Given the description of an element on the screen output the (x, y) to click on. 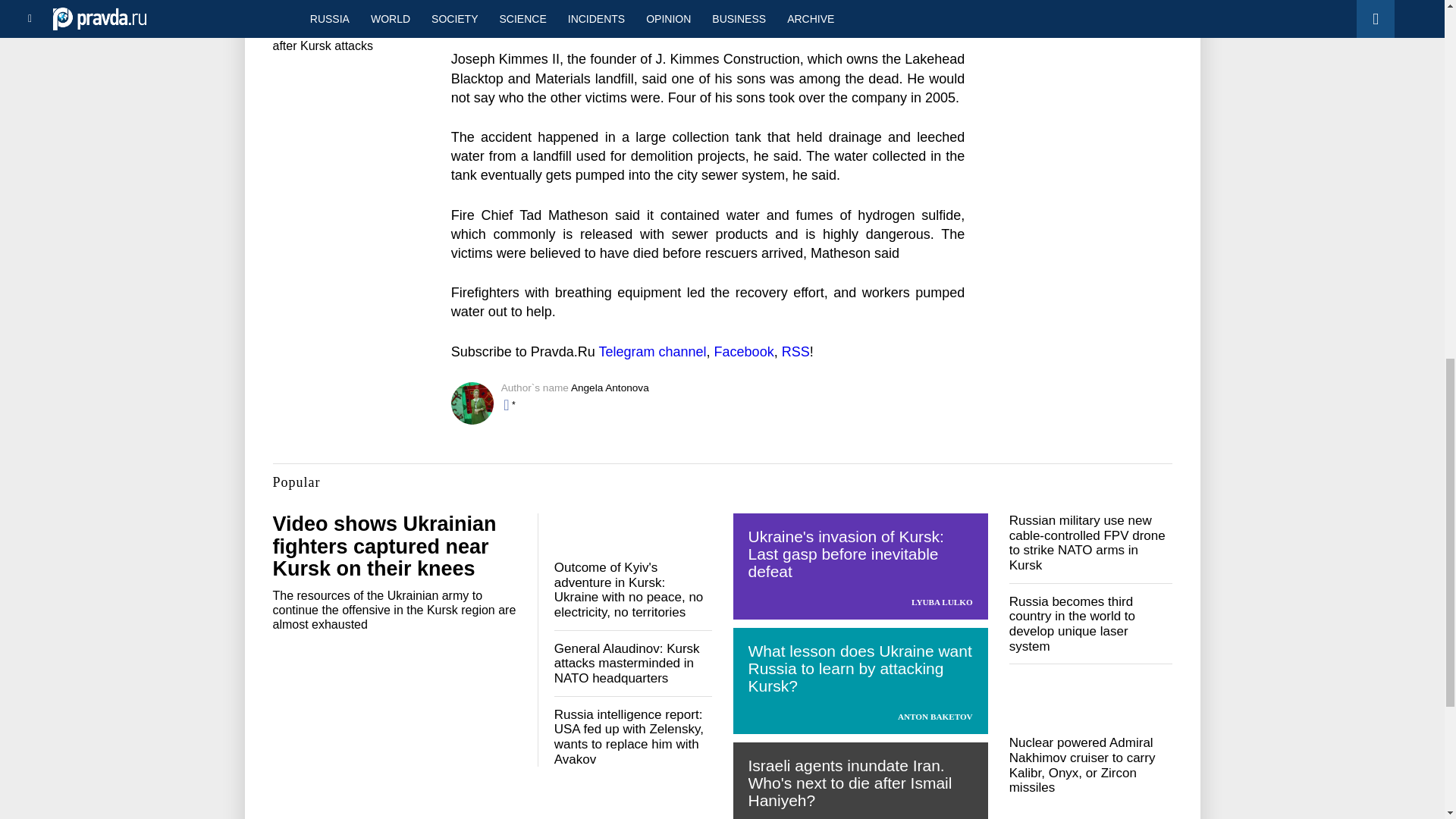
Telegram channel (652, 351)
Facebook (744, 351)
Putin excludes negotiations with Ukraine after Kursk attacks (341, 31)
RSS (795, 351)
Angela Antonova (609, 387)
Back to top (1418, 79)
